Given the description of an element on the screen output the (x, y) to click on. 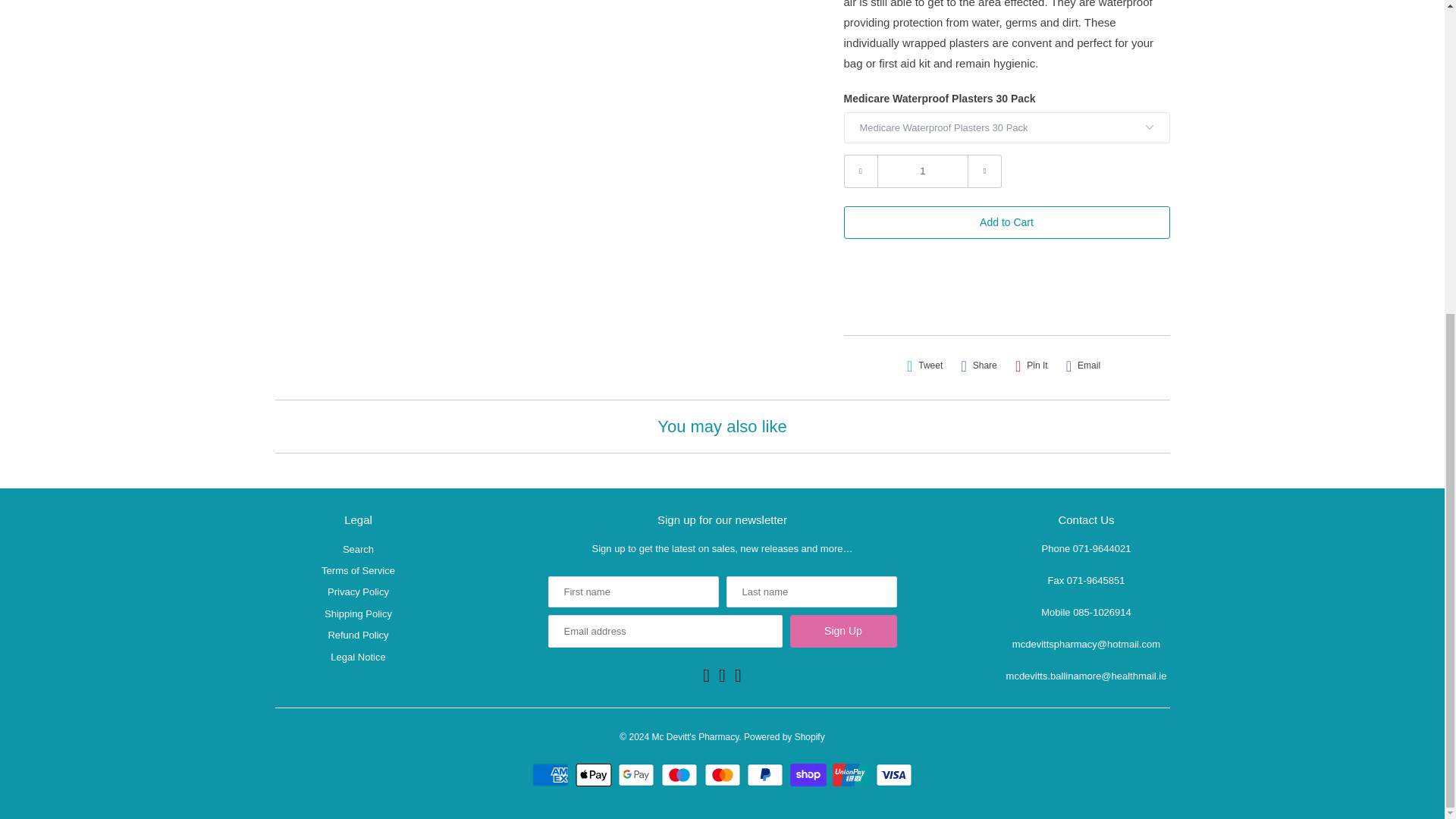
Share this on Facebook (978, 365)
Visa (894, 774)
Email this to a friend (1083, 365)
Sign Up (843, 631)
Add to Cart (1006, 222)
PayPal (766, 774)
Shop Pay (809, 774)
Apple Pay (595, 774)
Share this on Pinterest (1031, 365)
Share this on Twitter (924, 365)
1 (922, 171)
Google Pay (637, 774)
Maestro (681, 774)
American Express (552, 774)
